Given the description of an element on the screen output the (x, y) to click on. 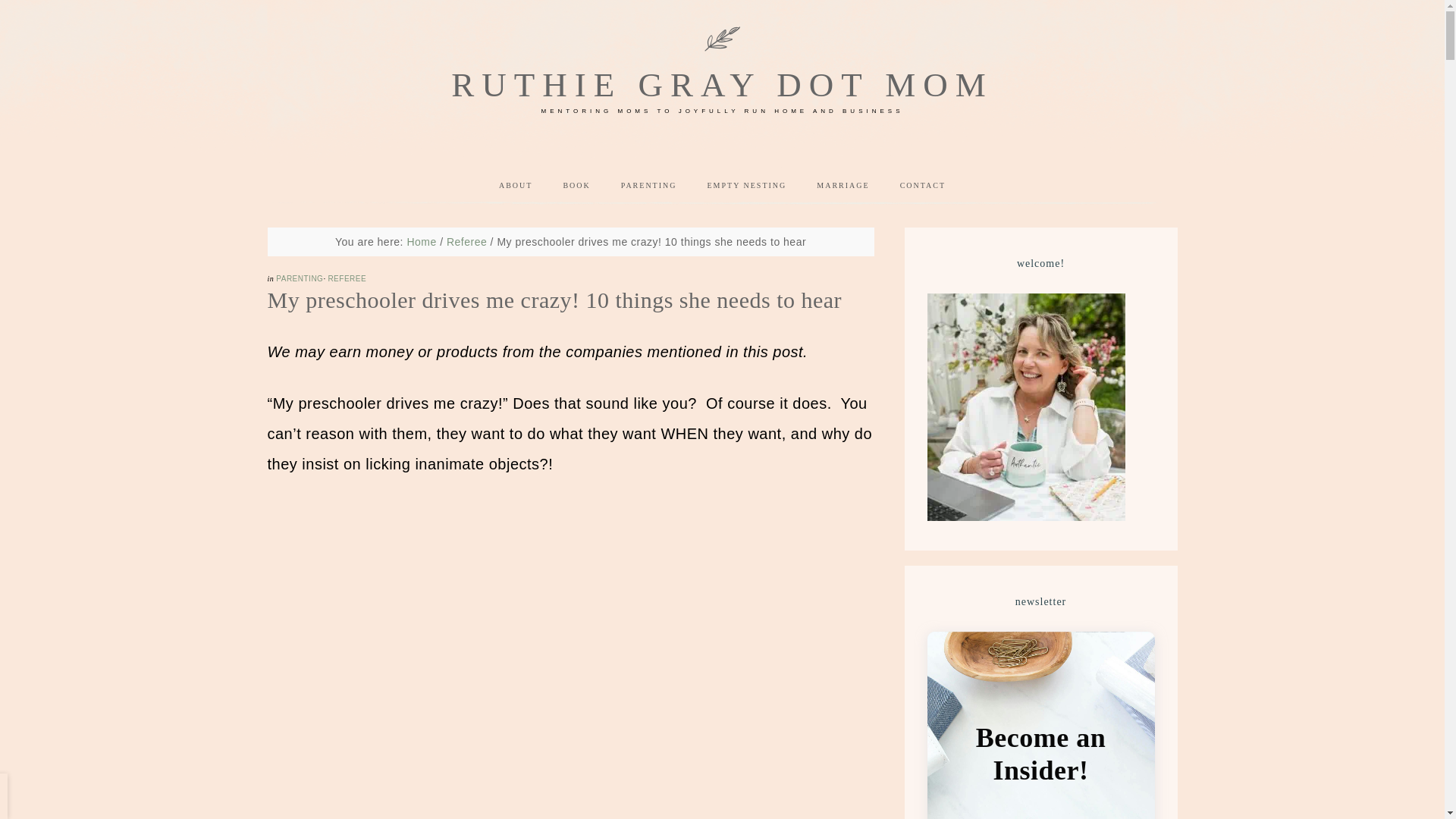
PARENTING (649, 185)
PARENTING (299, 278)
ABOUT (515, 185)
BOOK (576, 185)
RUTHIE GRAY DOT MOM (721, 85)
Home (420, 241)
MARRIAGE (842, 185)
Referee (466, 241)
EMPTY NESTING (746, 185)
REFEREE (346, 278)
CONTACT (922, 185)
